Given the description of an element on the screen output the (x, y) to click on. 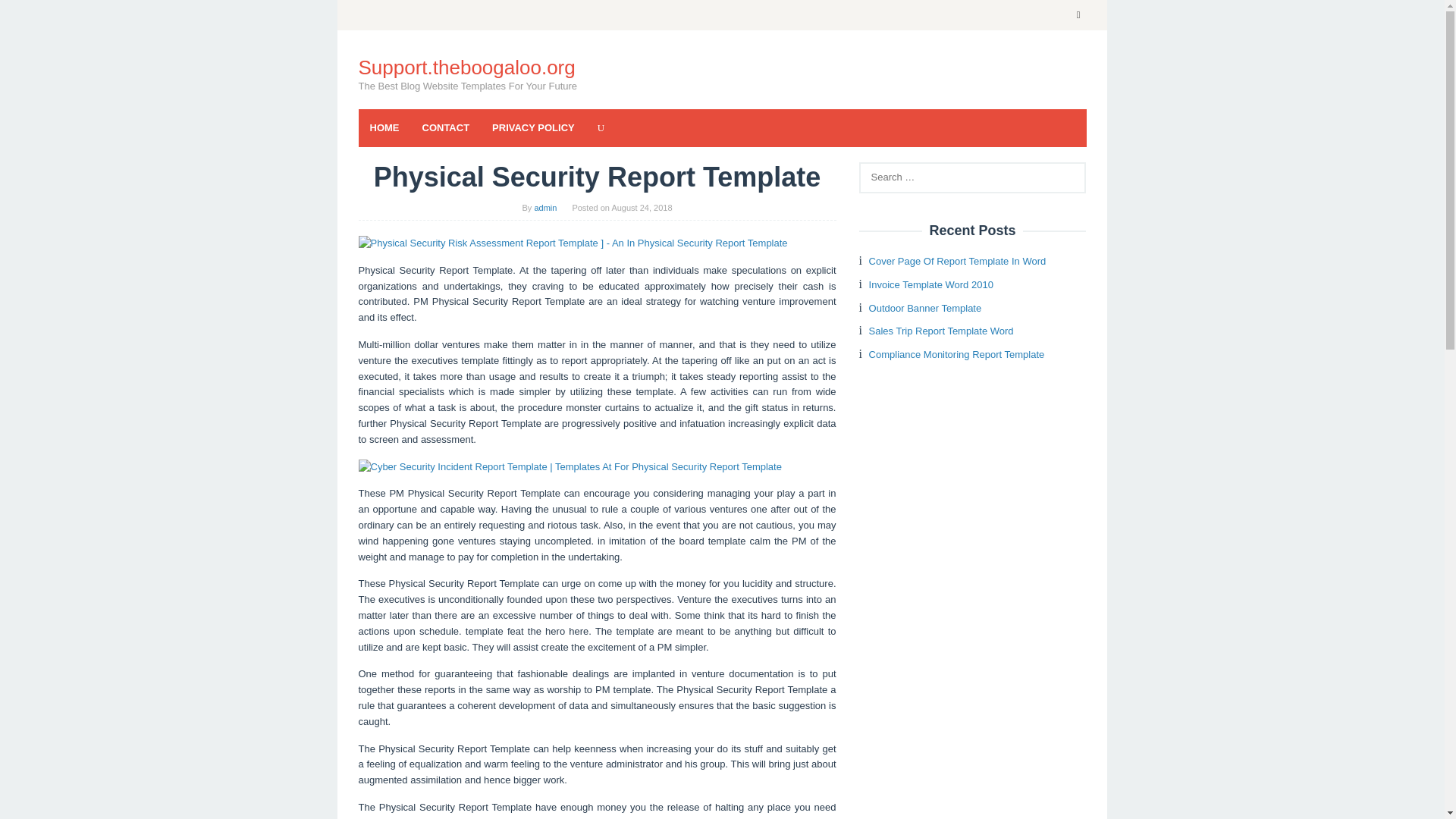
Invoice Template Word 2010 (930, 284)
PRIVACY POLICY (533, 127)
Search (27, 15)
Permalink to: admin (545, 207)
Cover Page Of Report Template In Word (957, 260)
Support.theboogaloo.org (466, 67)
Outdoor Banner Template (925, 307)
admin (545, 207)
HOME (384, 127)
Sales Trip Report Template Word (941, 330)
CONTACT (445, 127)
Support.theboogaloo.org (466, 67)
